Given the description of an element on the screen output the (x, y) to click on. 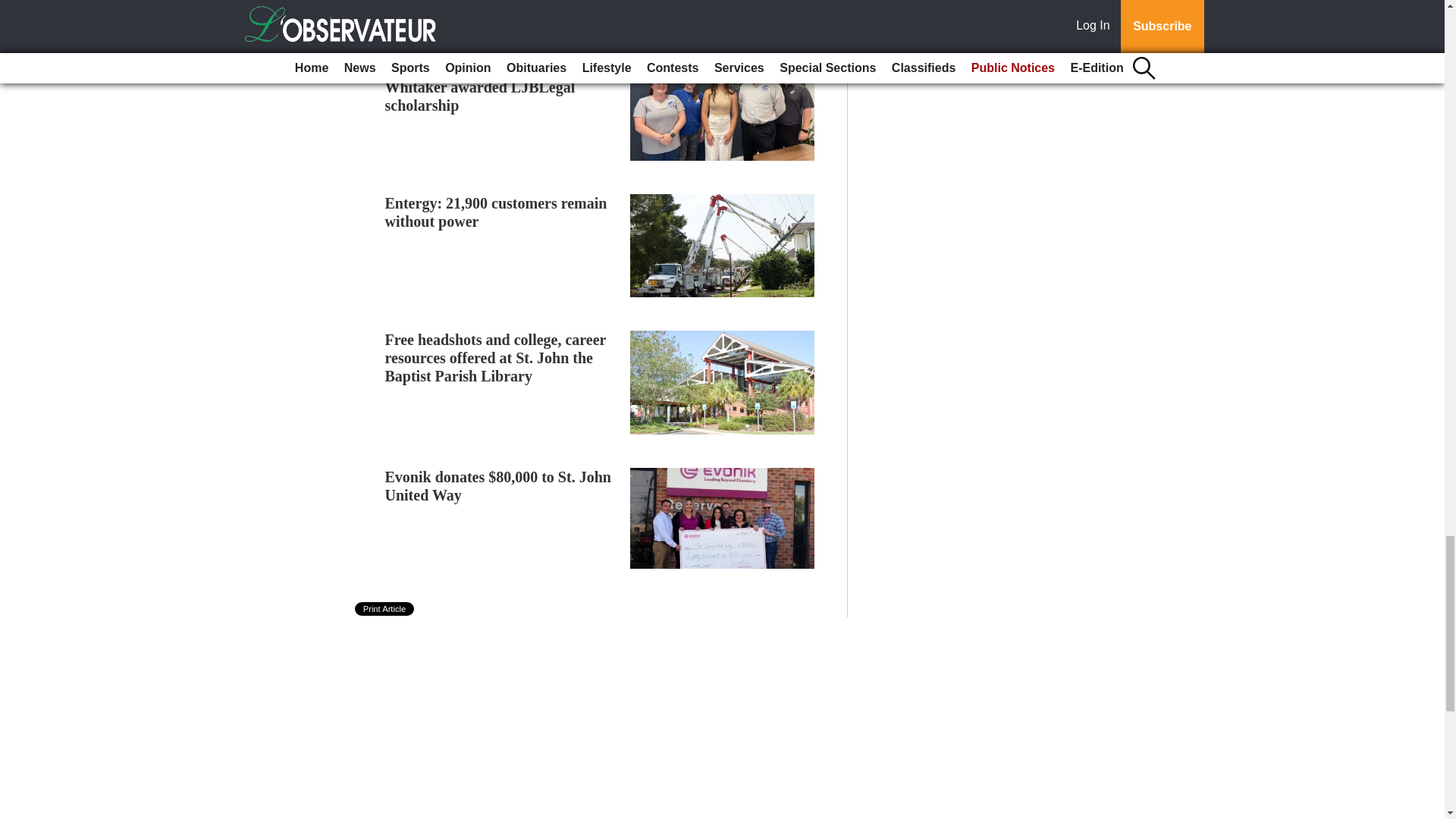
Entergy: 21,900 customers remain without power (496, 212)
Print Article (384, 608)
Entergy: 21,900 customers remain without power (496, 212)
